Given the description of an element on the screen output the (x, y) to click on. 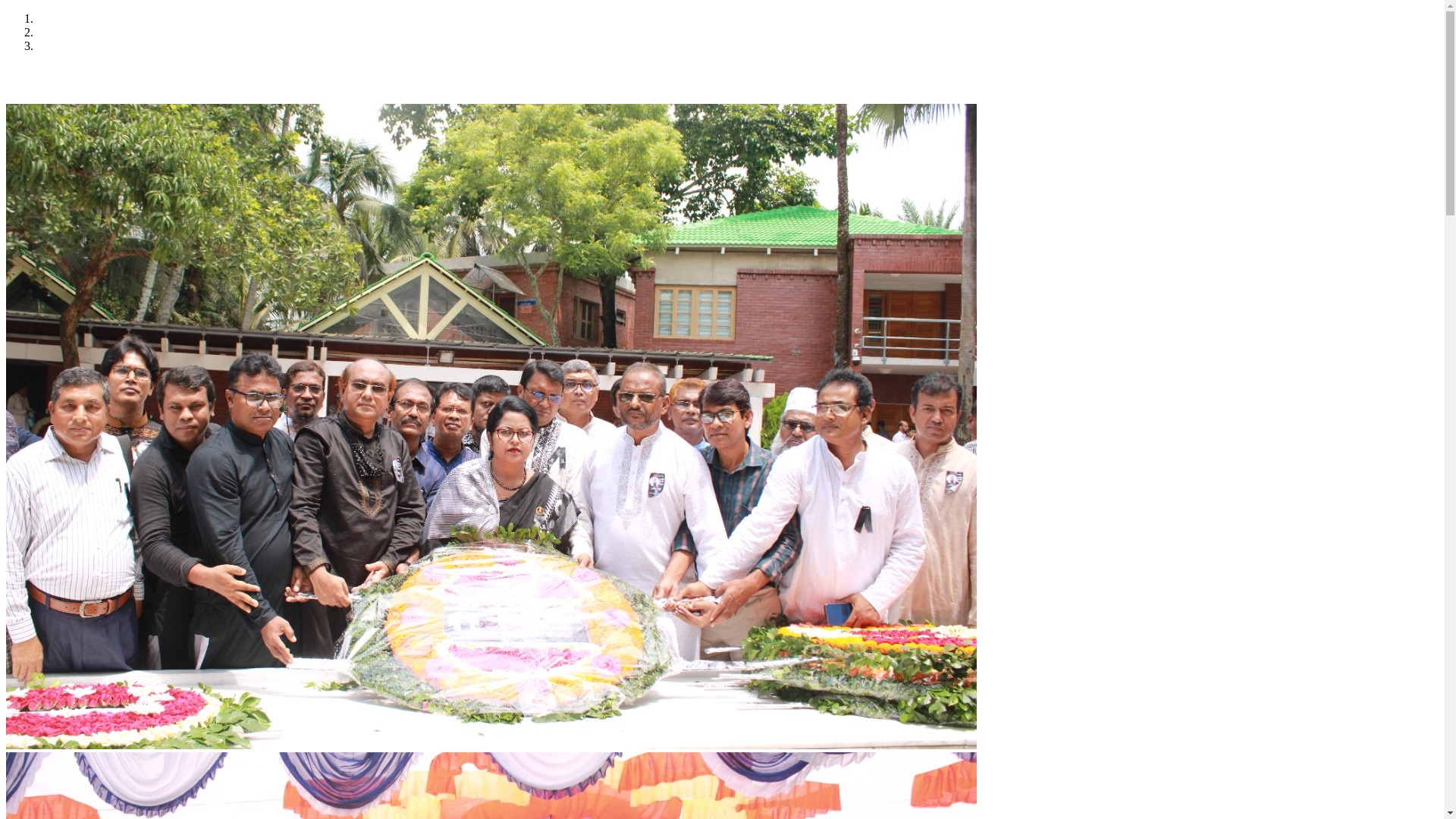
Skip to content Element type: text (5, 11)
